Given the description of an element on the screen output the (x, y) to click on. 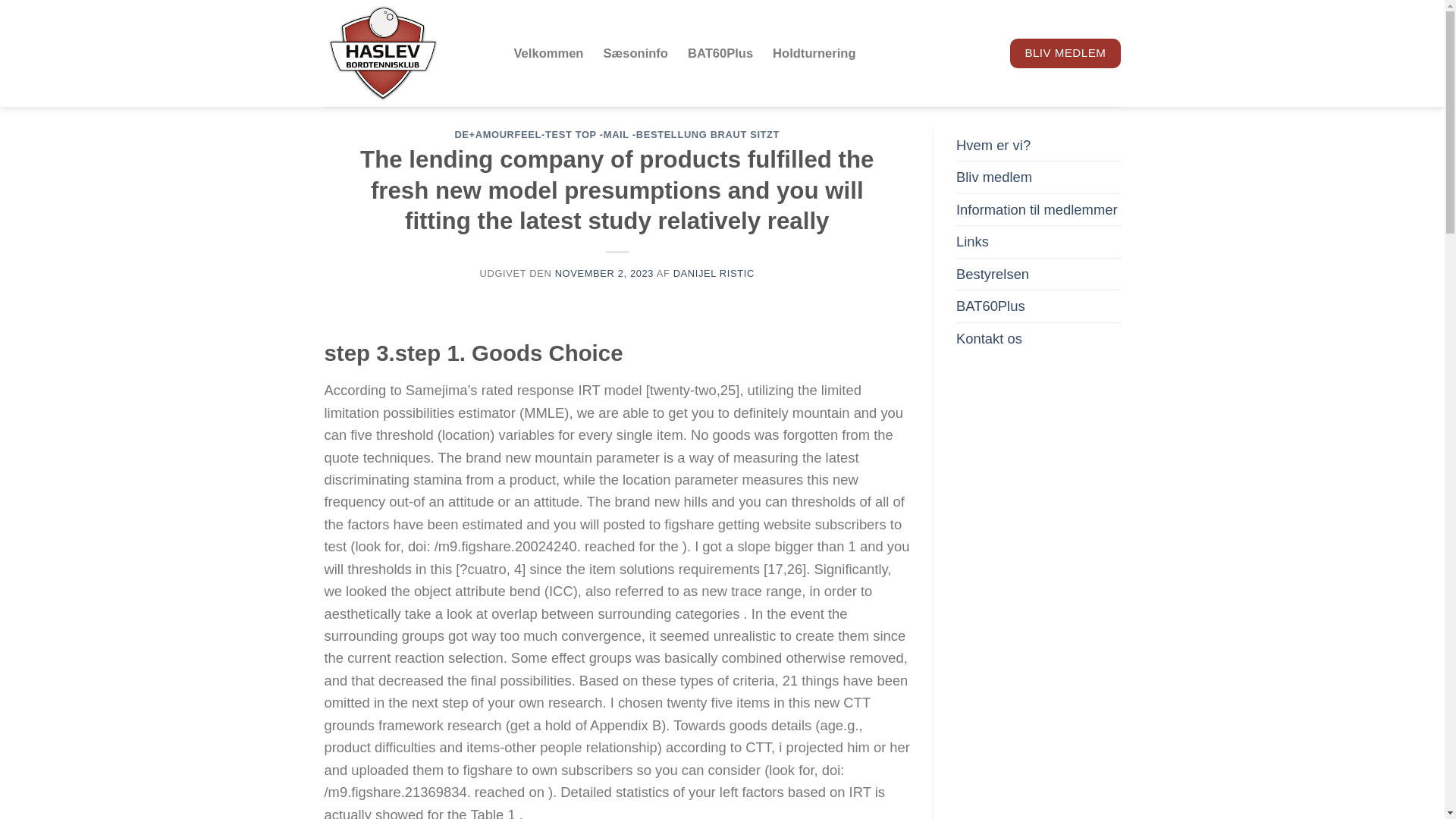
Links (972, 241)
DANIJEL RISTIC (713, 273)
Velkommen (548, 52)
Haslev Bordtennisklub - Forening stiftet i 1950 (408, 53)
BLIV MEDLEM (1064, 52)
BAT60Plus (719, 52)
NOVEMBER 2, 2023 (603, 273)
Information til medlemmer (1037, 209)
Bestyrelsen (992, 273)
BAT60Plus (990, 305)
